Given the description of an element on the screen output the (x, y) to click on. 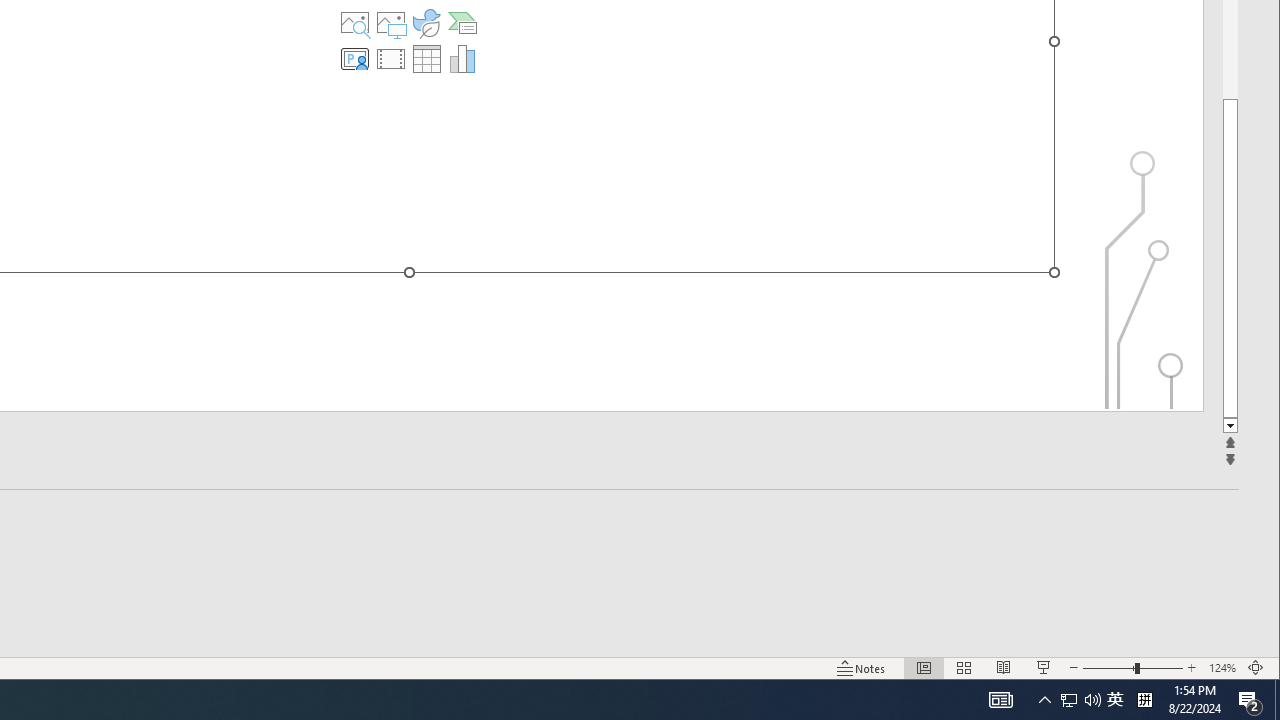
Q2790: 100% (1092, 699)
Normal (923, 668)
Slide Sorter (964, 668)
Pictures (391, 22)
Tray Input Indicator - Chinese (Simplified, China) (1144, 699)
Zoom Out (1108, 668)
User Promoted Notification Area (1080, 699)
Action Center, 2 new notifications (1250, 699)
Insert a SmartArt Graphic (462, 22)
Insert Cameo (355, 58)
Line down (1230, 426)
AutomationID: 4105 (1000, 699)
Insert an Icon (426, 22)
Insert Table (426, 58)
